Given the description of an element on the screen output the (x, y) to click on. 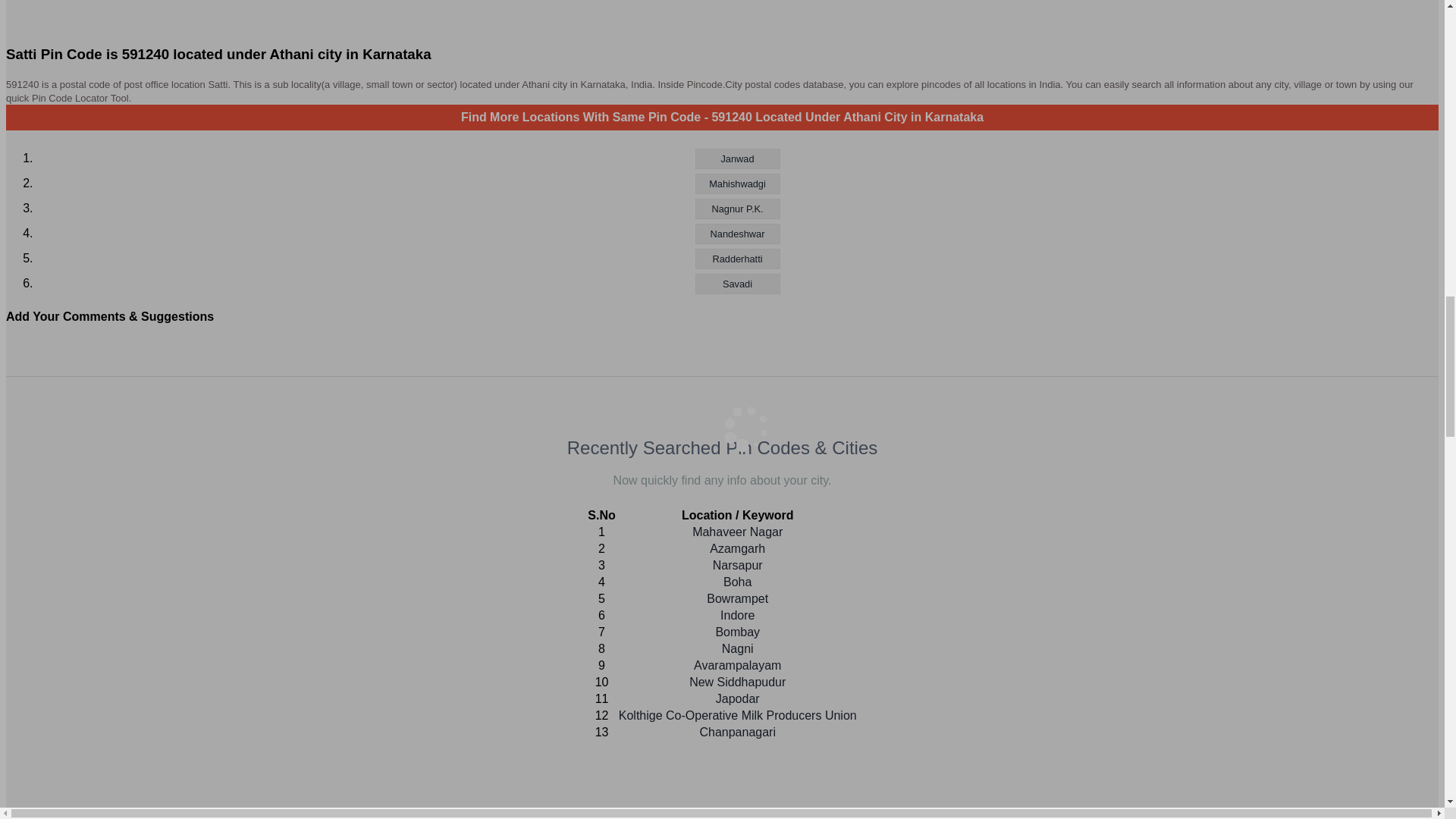
Narsapur (737, 564)
Mahishwadgi (736, 183)
Japodar (738, 698)
Nagnur P.K. (736, 209)
New Siddhapudur (737, 681)
Savadi (736, 283)
Nagni (738, 648)
Janwad (736, 158)
Radderhatti (736, 258)
Mahaveer Nagar (738, 531)
Indore (737, 615)
Bombay (737, 631)
Avarampalayam (737, 665)
Azamgarh (737, 548)
Nandeshwar (736, 233)
